Given the description of an element on the screen output the (x, y) to click on. 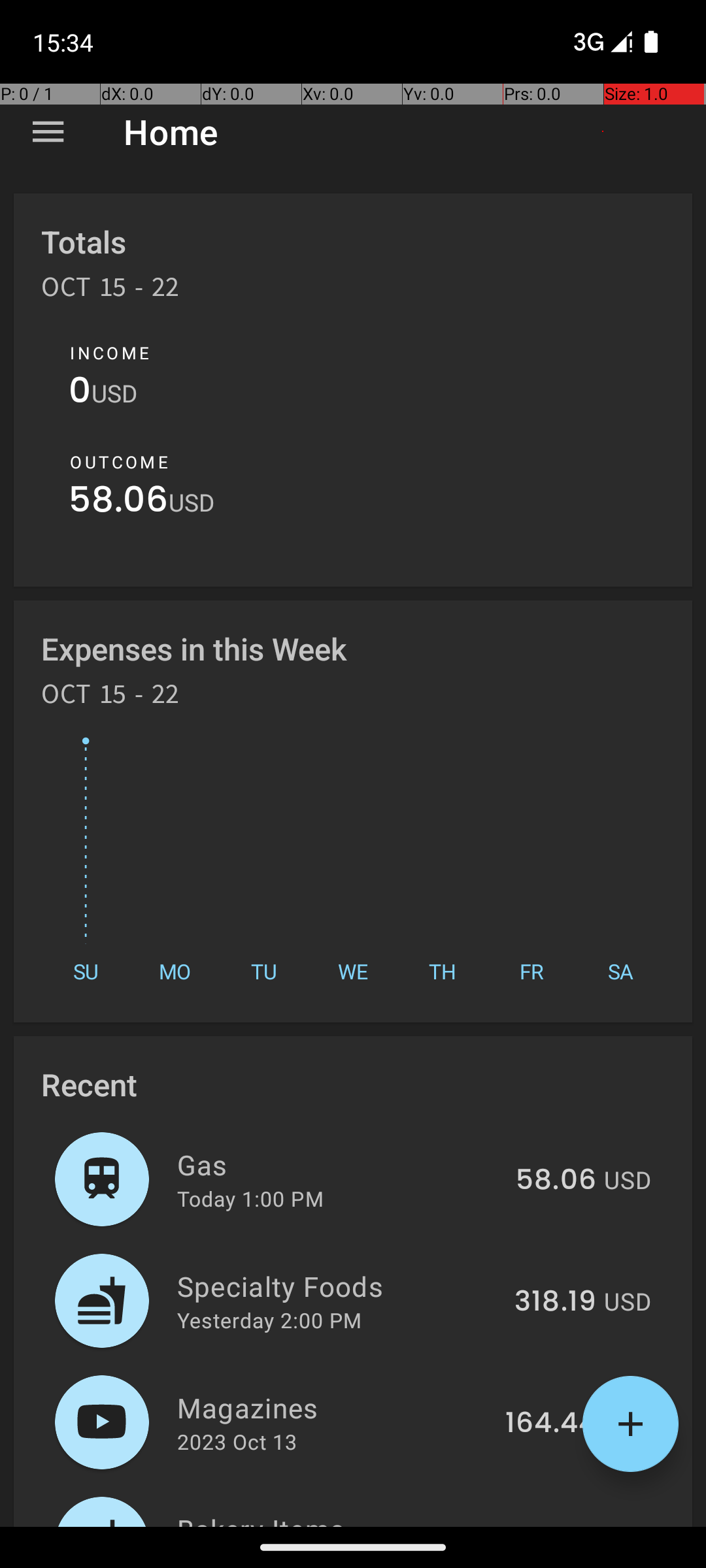
58.06 Element type: android.widget.TextView (118, 502)
Gas Element type: android.widget.TextView (338, 1164)
Today 1:00 PM Element type: android.widget.TextView (250, 1198)
Specialty Foods Element type: android.widget.TextView (338, 1285)
Yesterday 2:00 PM Element type: android.widget.TextView (269, 1320)
318.19 Element type: android.widget.TextView (554, 1301)
Magazines Element type: android.widget.TextView (333, 1407)
164.44 Element type: android.widget.TextView (550, 1423)
Bakery Items Element type: android.widget.TextView (343, 1518)
12.88 Element type: android.widget.TextView (560, 1524)
